Given the description of an element on the screen output the (x, y) to click on. 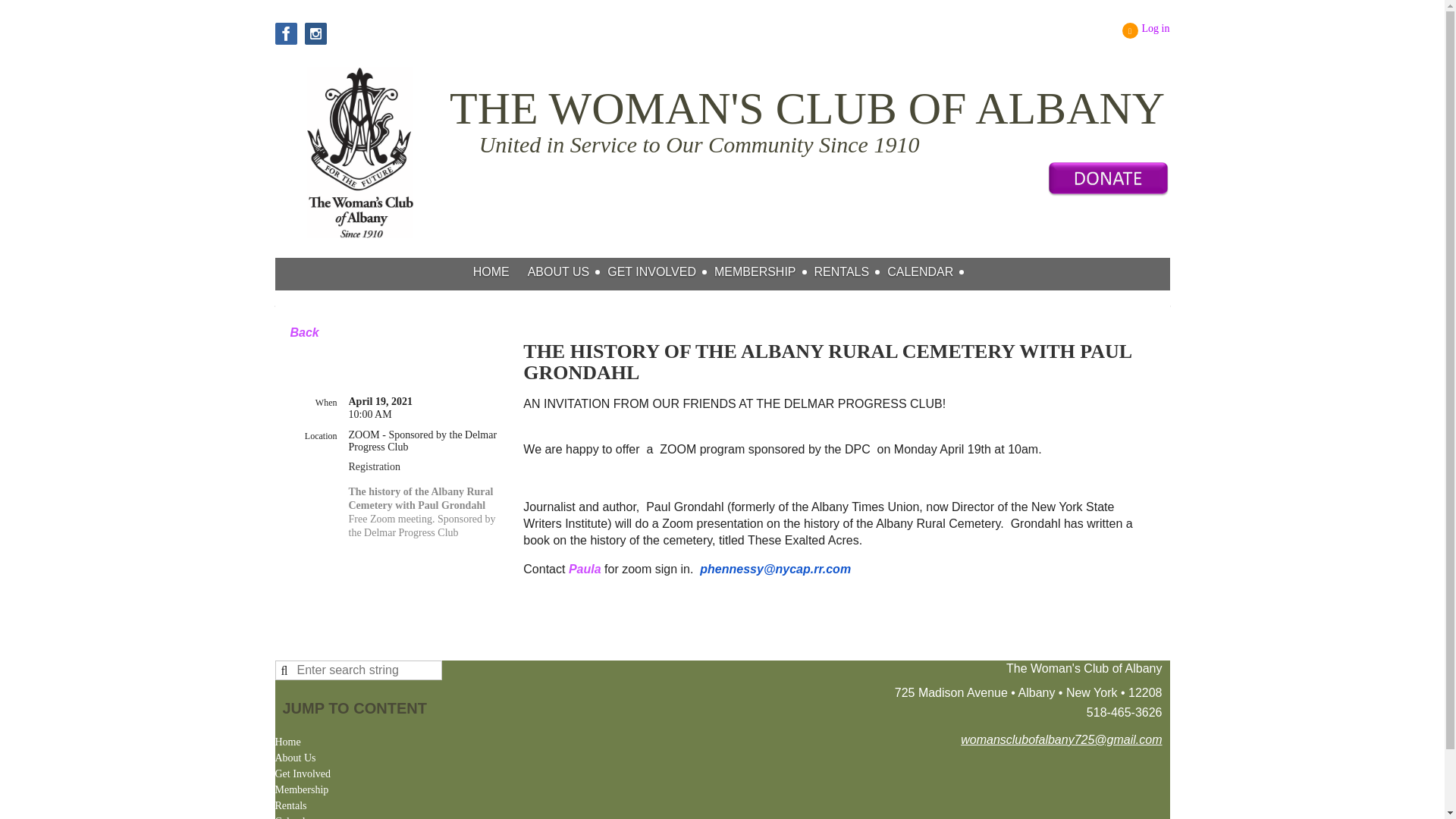
Membership (302, 789)
GET INVOLVED (660, 271)
Home (287, 742)
Paula (585, 568)
Instagram (315, 33)
RENTALS (850, 271)
Home (500, 271)
About Us (567, 271)
CALENDAR (928, 271)
Get Involved (302, 774)
Rentals (290, 806)
ABOUT US (567, 271)
MEMBERSHIP (763, 271)
Log in (1146, 30)
HOME (500, 271)
